Given the description of an element on the screen output the (x, y) to click on. 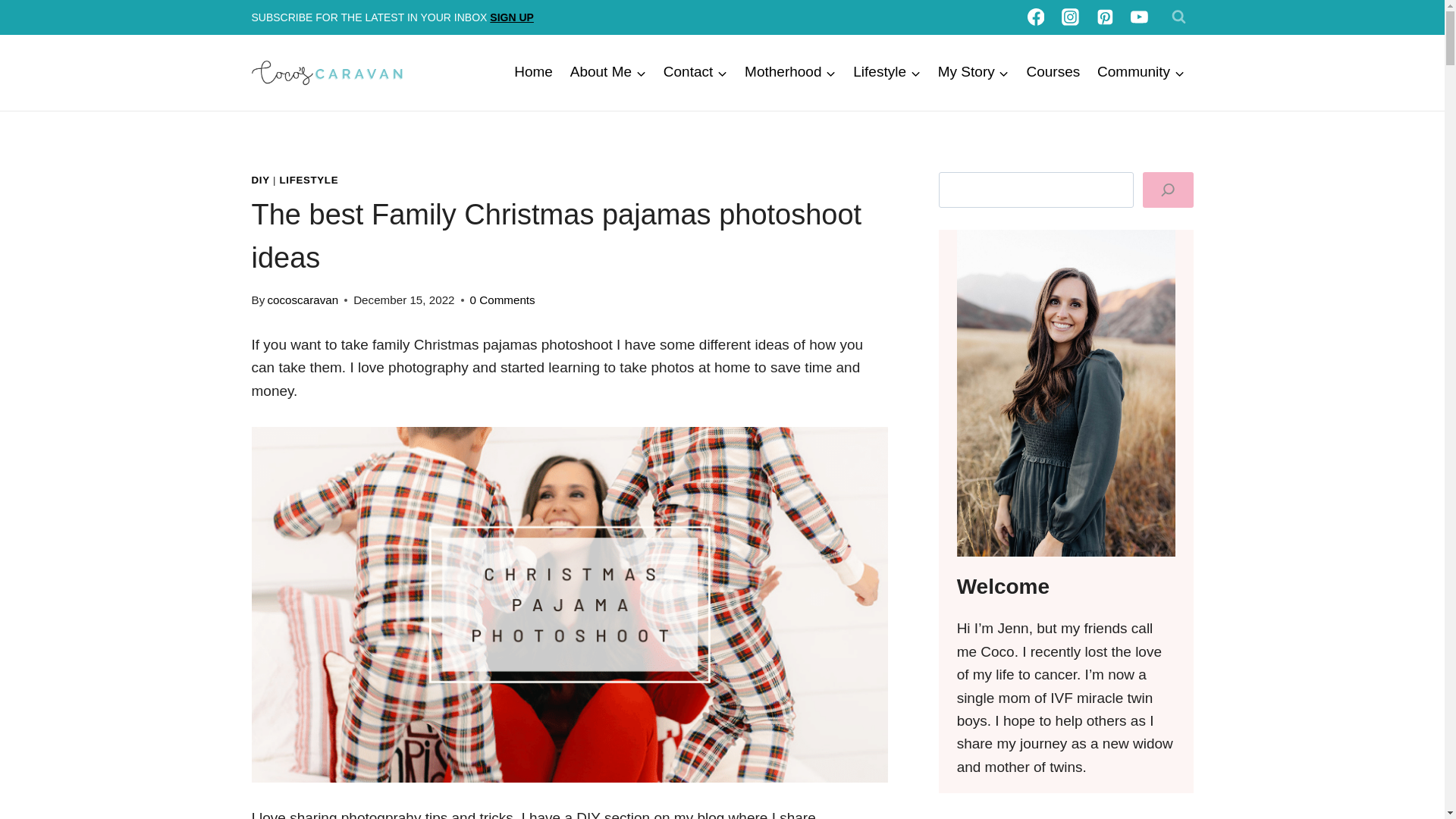
Contact (694, 72)
SIGN UP (511, 17)
DIY (260, 179)
Courses (1053, 72)
0 Comments (502, 300)
My Story (972, 72)
Lifestyle (886, 72)
About Me (606, 72)
Motherhood (790, 72)
Home (532, 72)
Community (1141, 72)
